Given the description of an element on the screen output the (x, y) to click on. 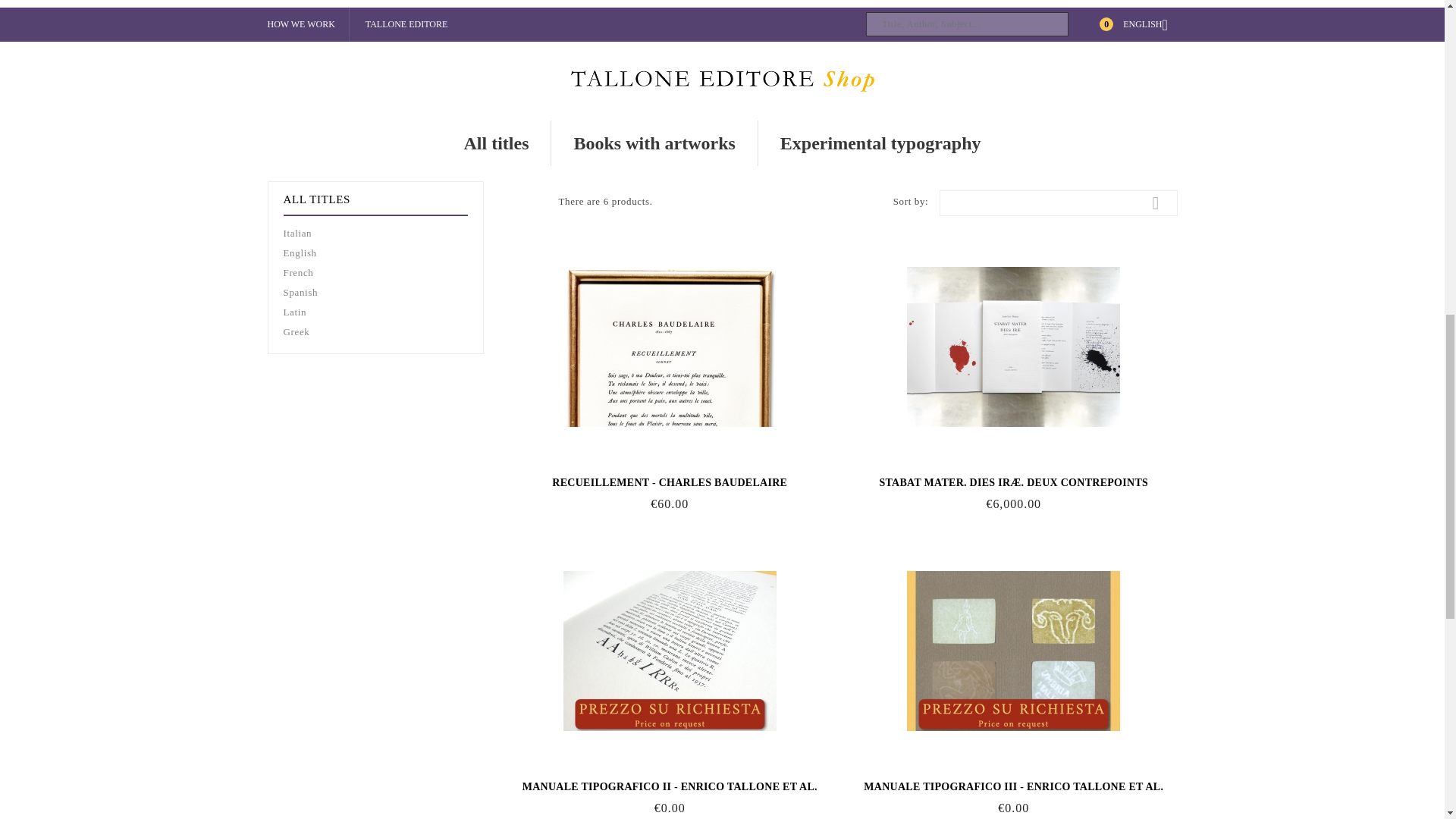
Experimental typography (880, 142)
HOW WE WORK (300, 23)
ALL TITLES (316, 199)
Spanish (375, 292)
TALLONE EDITORE (405, 23)
All titles (495, 142)
List (536, 201)
Grid (513, 201)
RECUEILLEMENT - CHARLES BAUDELAIRE (669, 482)
Books with artworks (654, 142)
